Given the description of an element on the screen output the (x, y) to click on. 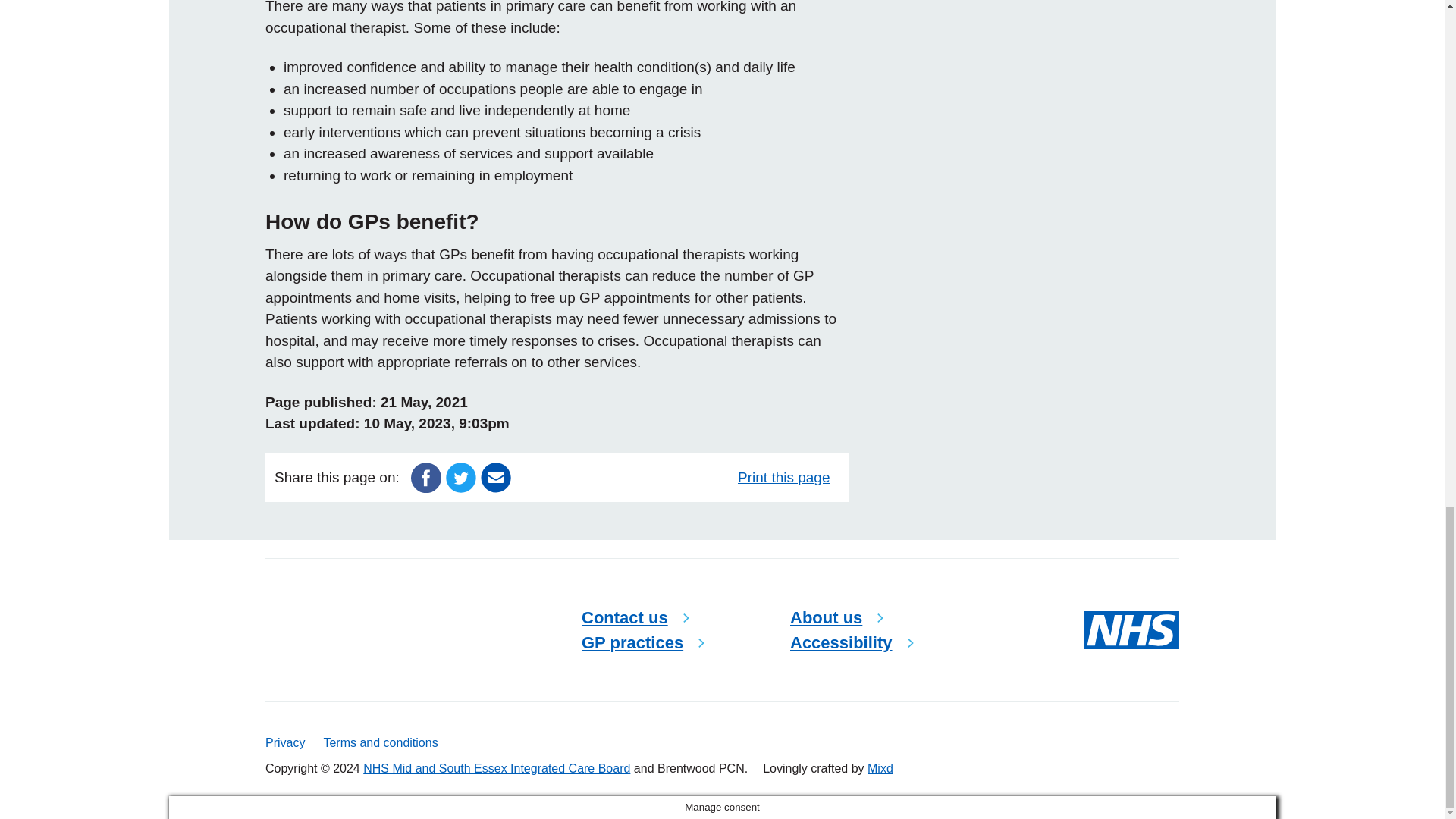
Share via Email (495, 476)
Share on Twitter (460, 476)
The Brentwood Primary Care Network Homepage (359, 630)
Print this page (788, 477)
Share on Facebook (425, 476)
